Given the description of an element on the screen output the (x, y) to click on. 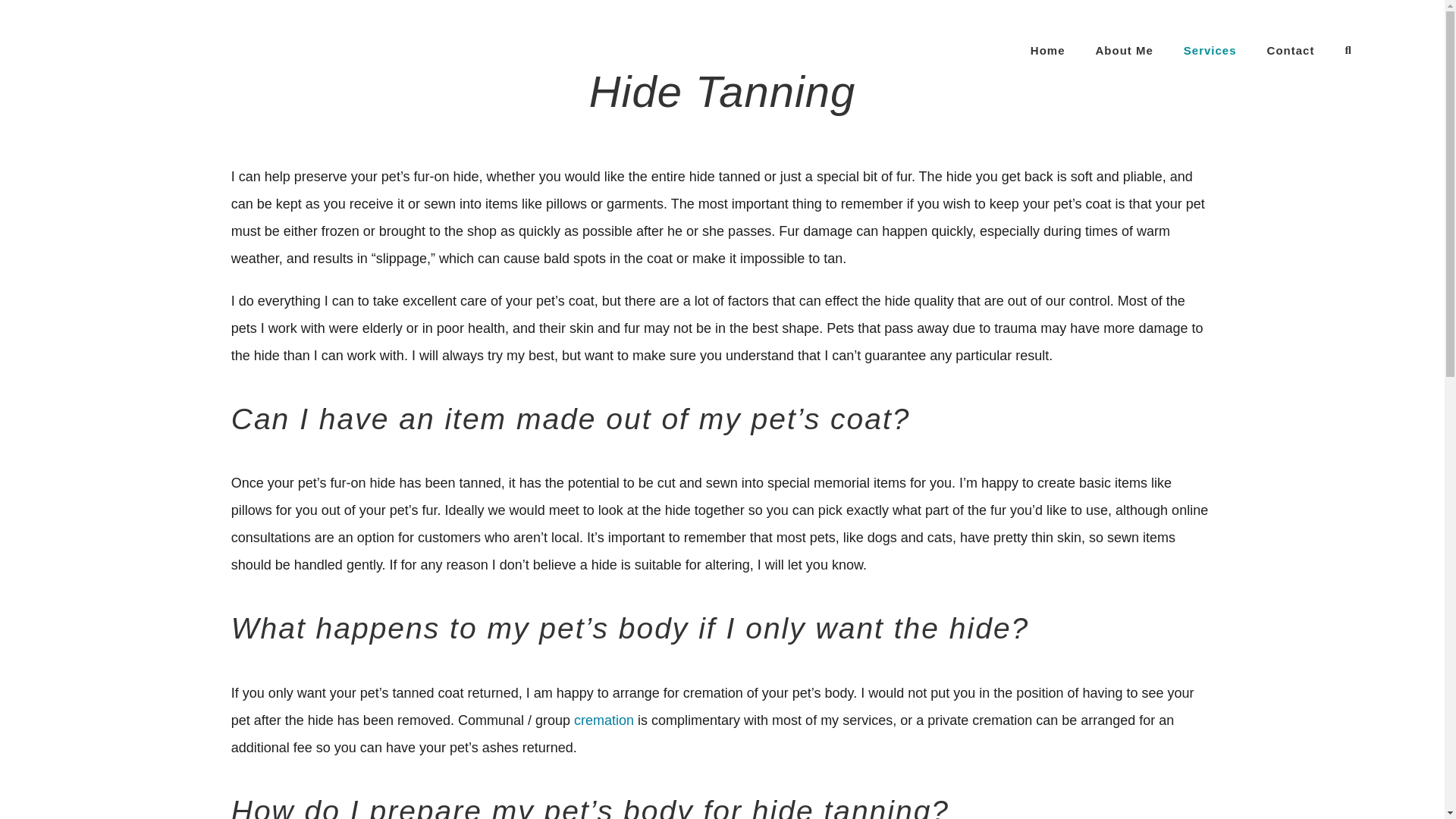
Contact (1290, 50)
Services (1209, 50)
About Me (1123, 50)
Home (1047, 50)
cremation (603, 720)
